Given the description of an element on the screen output the (x, y) to click on. 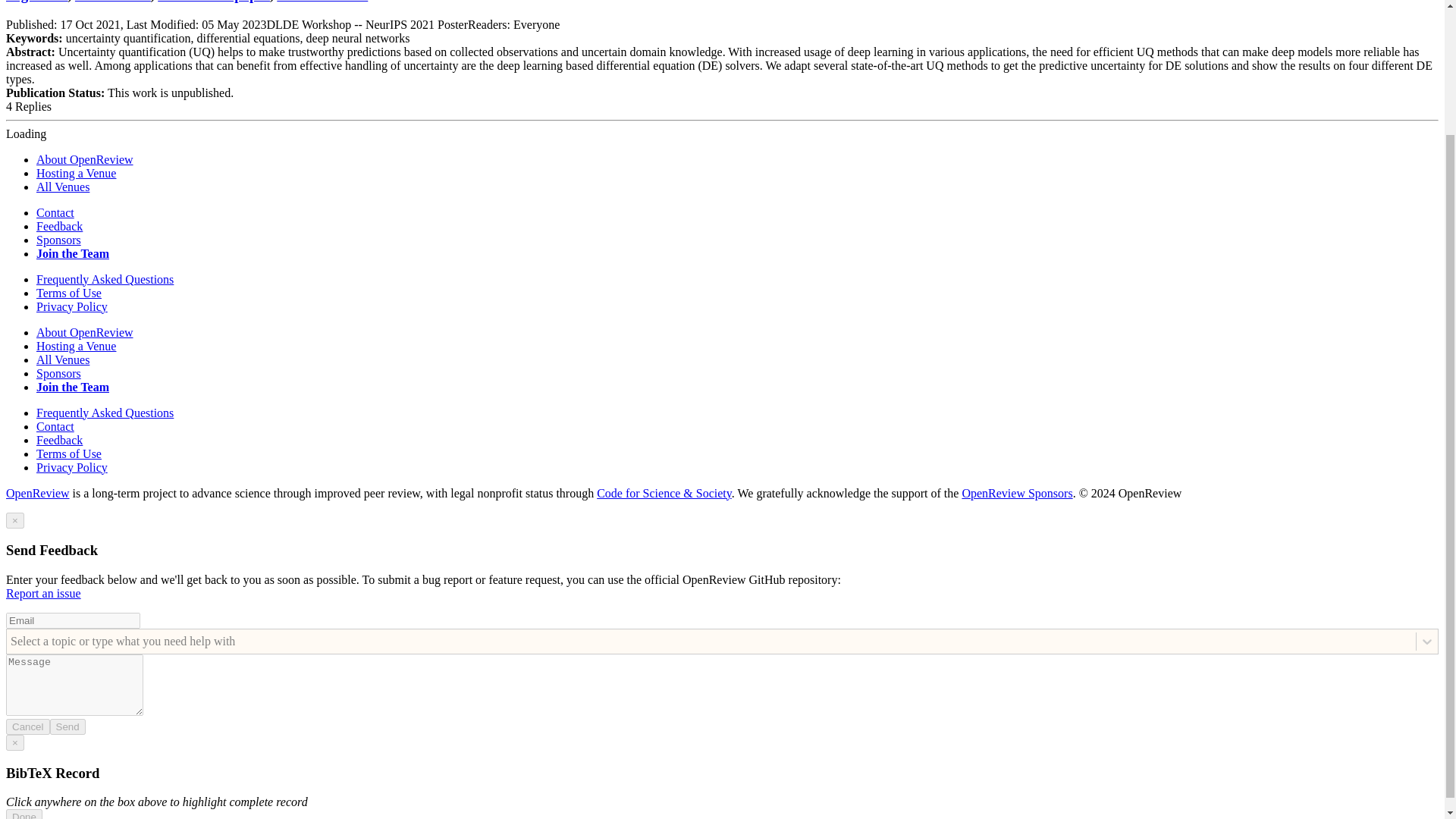
Join the Team (72, 386)
OpenReview (37, 492)
Olga Graf (36, 1)
Terms of Use (68, 453)
Frequently Asked Questions (104, 412)
Hosting a Venue (76, 345)
Contact (55, 212)
Terms of Use (68, 292)
Cancel (27, 726)
Contact (55, 426)
